Given the description of an element on the screen output the (x, y) to click on. 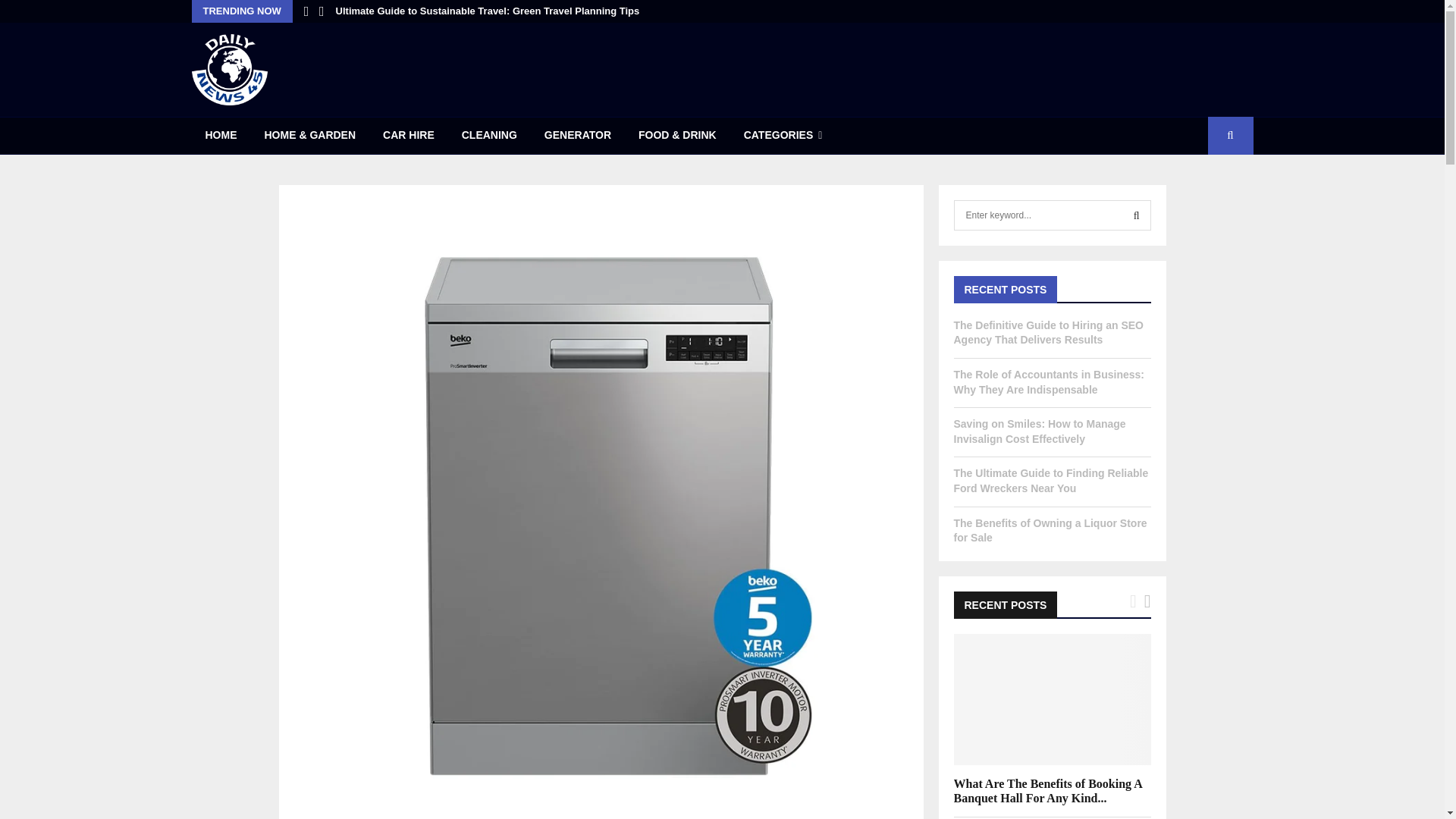
HOME (220, 135)
CAR HIRE (408, 135)
Car Hire (408, 135)
CATEGORIES (782, 135)
Categories (782, 135)
DaliyNews45 (228, 69)
GENERATOR (577, 135)
Home (220, 135)
CLEANING (489, 135)
Cleaning (489, 135)
Generator (577, 135)
